Given the description of an element on the screen output the (x, y) to click on. 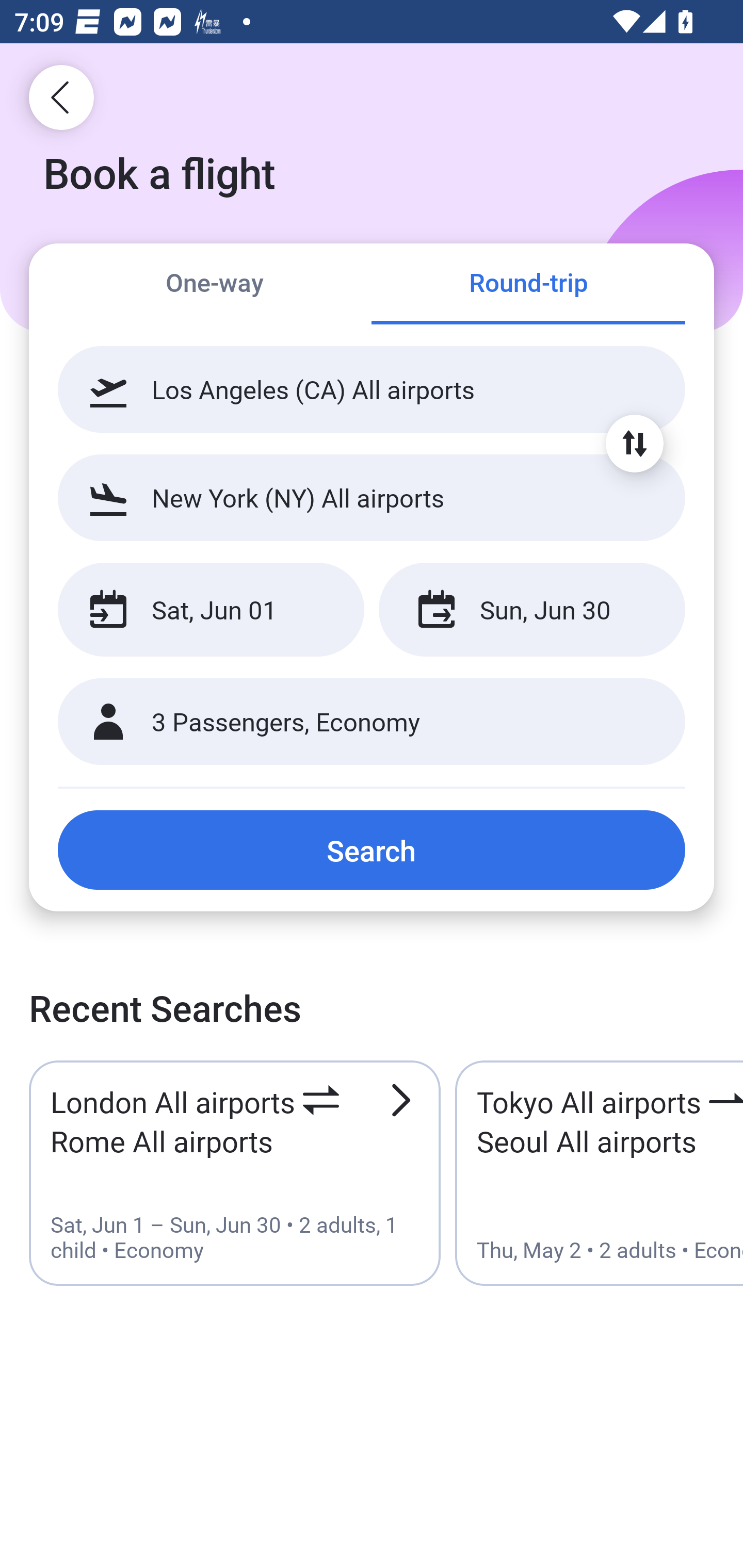
One-way (214, 284)
Los Angeles (CA) All airports (371, 389)
New York (NY) All airports (371, 497)
Sat, Jun 01 (210, 609)
Sun, Jun 30 (531, 609)
3 Passengers, Economy (371, 721)
Search (371, 849)
